Given the description of an element on the screen output the (x, y) to click on. 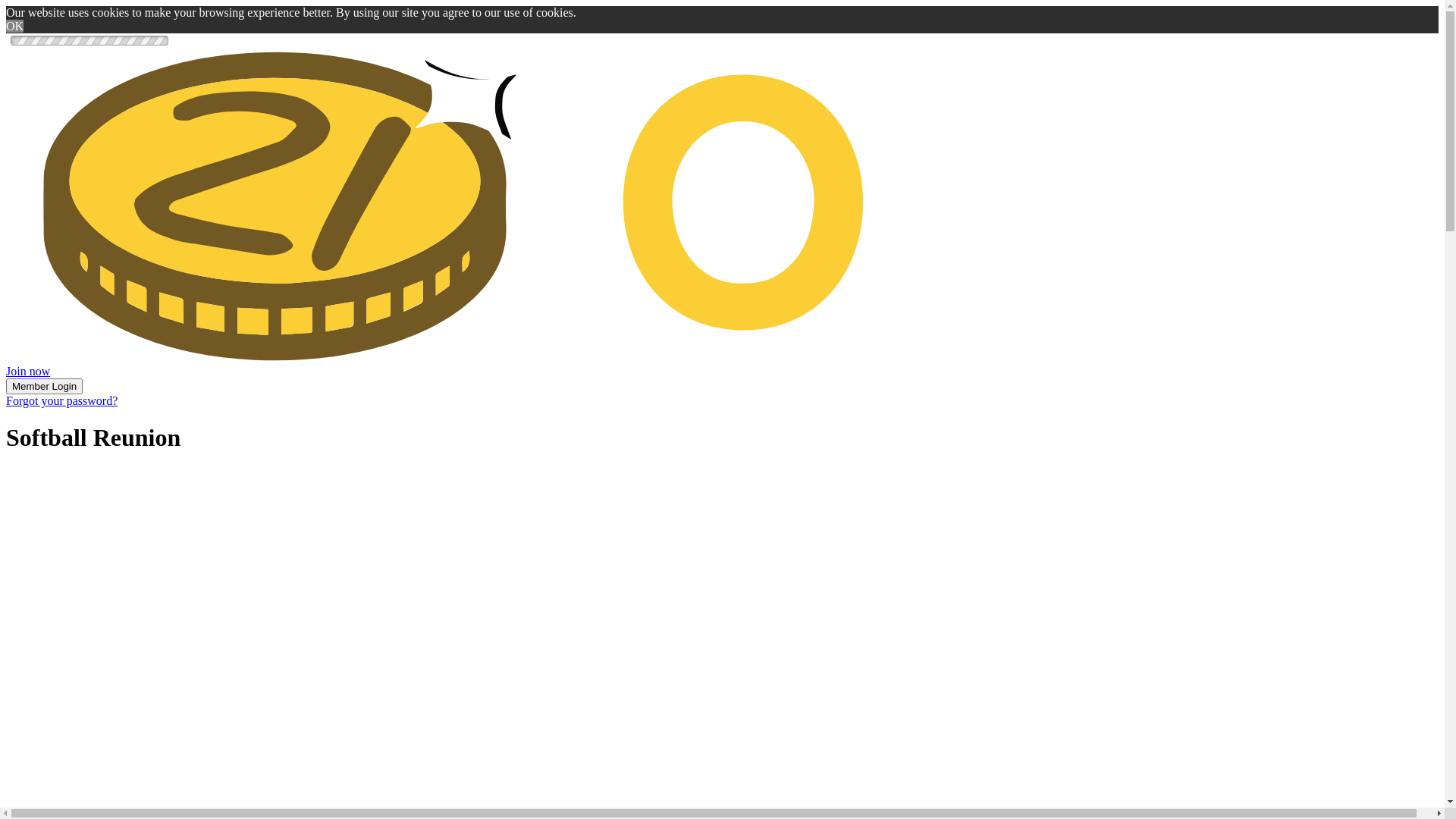
Join now Element type: text (28, 370)
Forgot your password? Element type: text (61, 400)
21Token Element type: hover (722, 357)
Member Login Element type: text (44, 386)
OK Element type: text (14, 25)
